Given the description of an element on the screen output the (x, y) to click on. 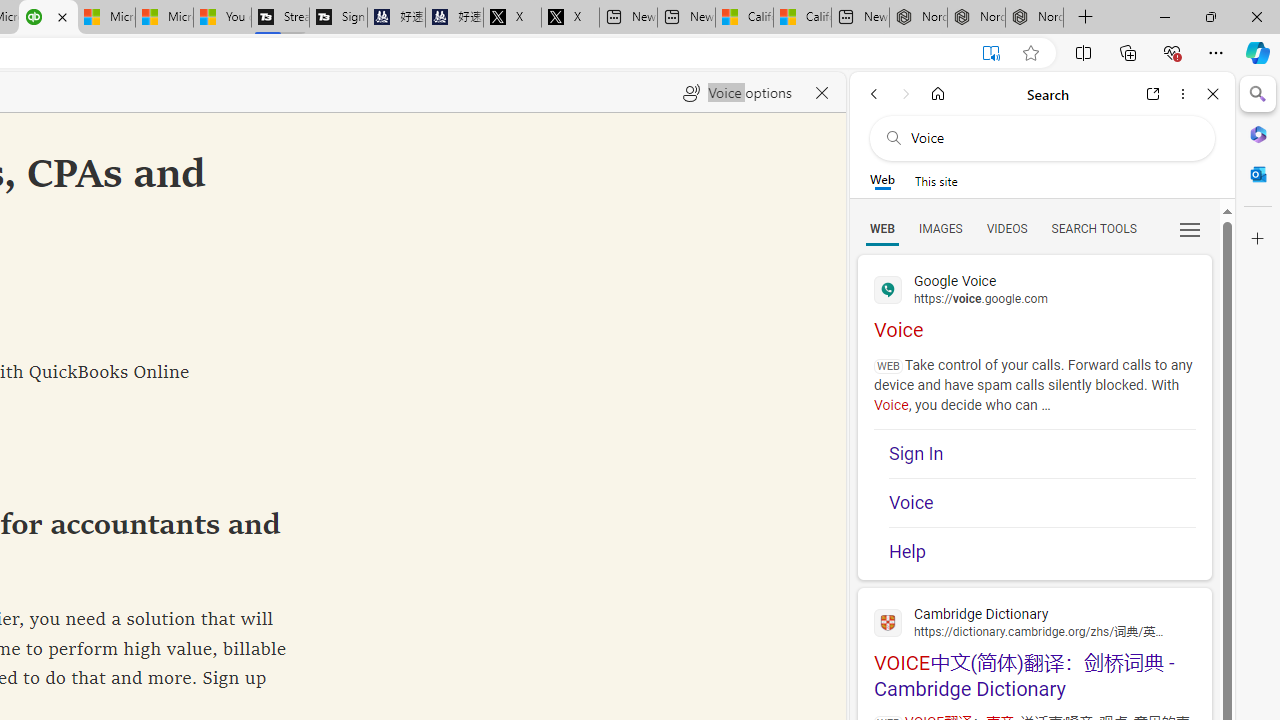
Search Filter, Search Tools (1093, 228)
WEB   (882, 228)
IMAGES (939, 228)
Help (1042, 551)
VIDEOS (1006, 228)
Cambridge Dictionary (1034, 621)
Close read aloud (821, 92)
Voice options (737, 92)
Global web icon (888, 622)
